Given the description of an element on the screen output the (x, y) to click on. 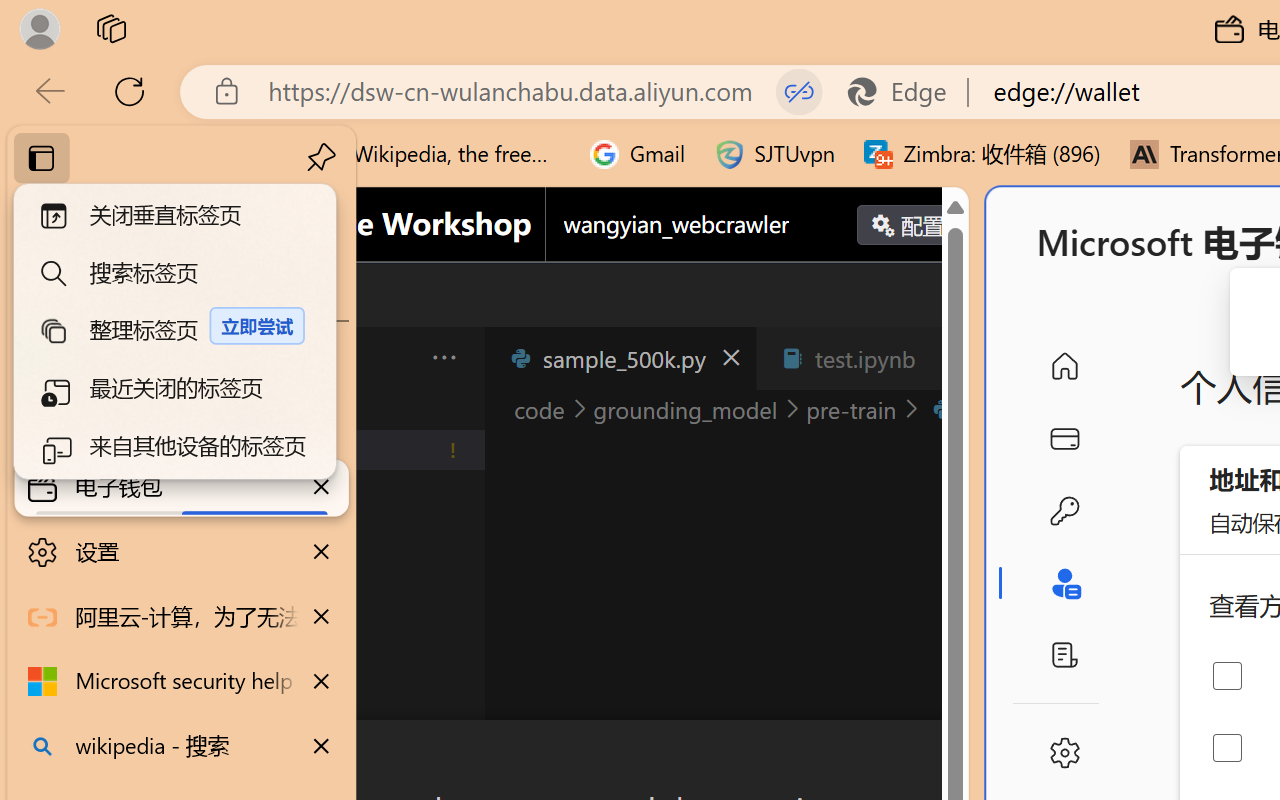
Edge (905, 91)
Close (Ctrl+F4) (946, 358)
Wikipedia, the free encyclopedia (437, 154)
